Given the description of an element on the screen output the (x, y) to click on. 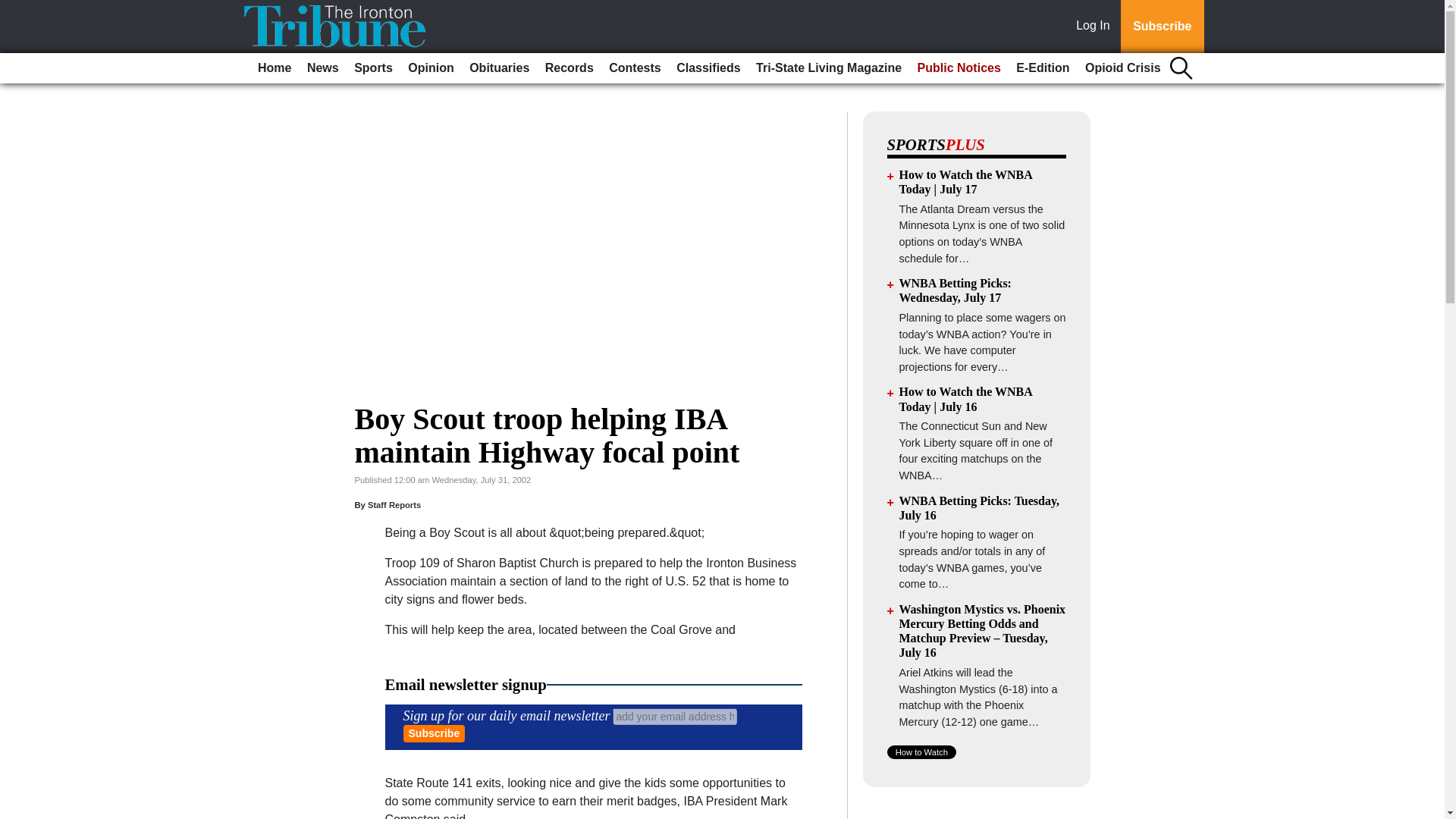
WNBA Betting Picks: Tuesday, July 16 (979, 507)
How to Watch (921, 752)
Subscribe (1162, 26)
Obituaries (499, 68)
Tri-State Living Magazine (828, 68)
Records (568, 68)
Log In (1095, 26)
Contests (634, 68)
Sports (372, 68)
Go (13, 9)
E-Edition (1042, 68)
Home (274, 68)
Staff Reports (394, 504)
Opinion (430, 68)
Subscribe (434, 733)
